Given the description of an element on the screen output the (x, y) to click on. 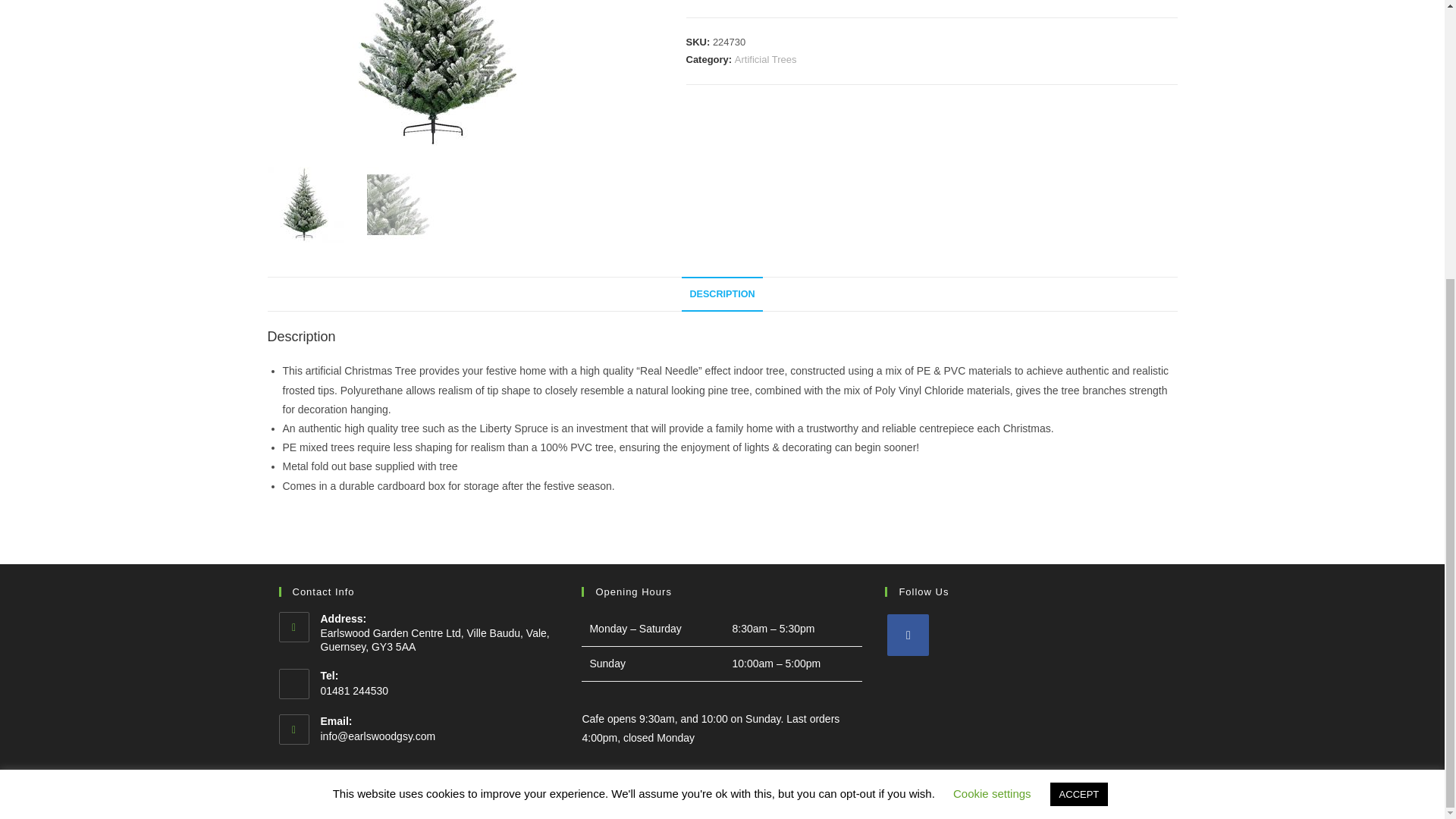
684142.jpg (437, 75)
